Given the description of an element on the screen output the (x, y) to click on. 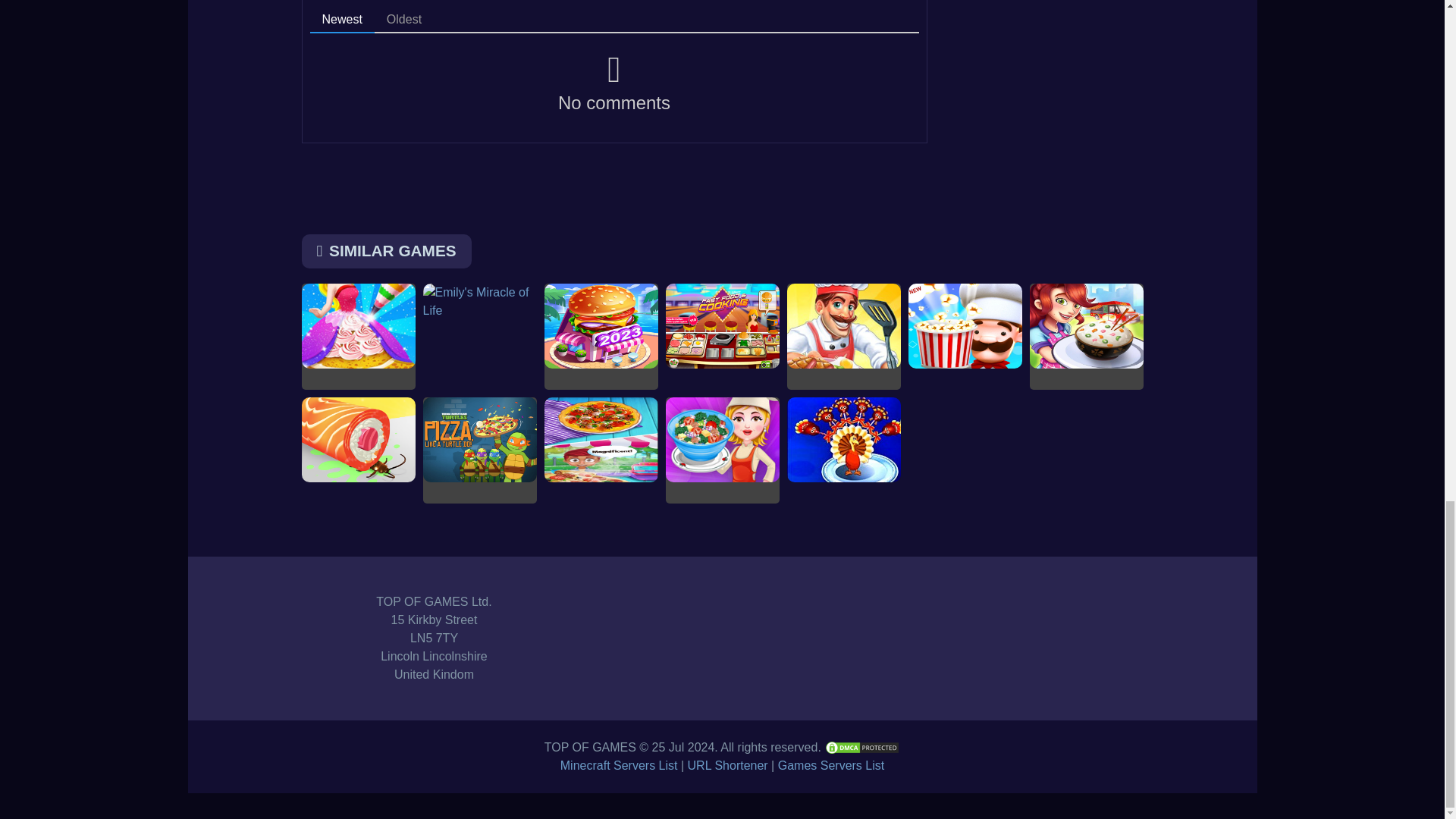
DMCA.com Protection Status (861, 747)
Free Minecraft Servers List (619, 765)
Free URL Shortener (727, 765)
Games Servers List (830, 765)
